Given the description of an element on the screen output the (x, y) to click on. 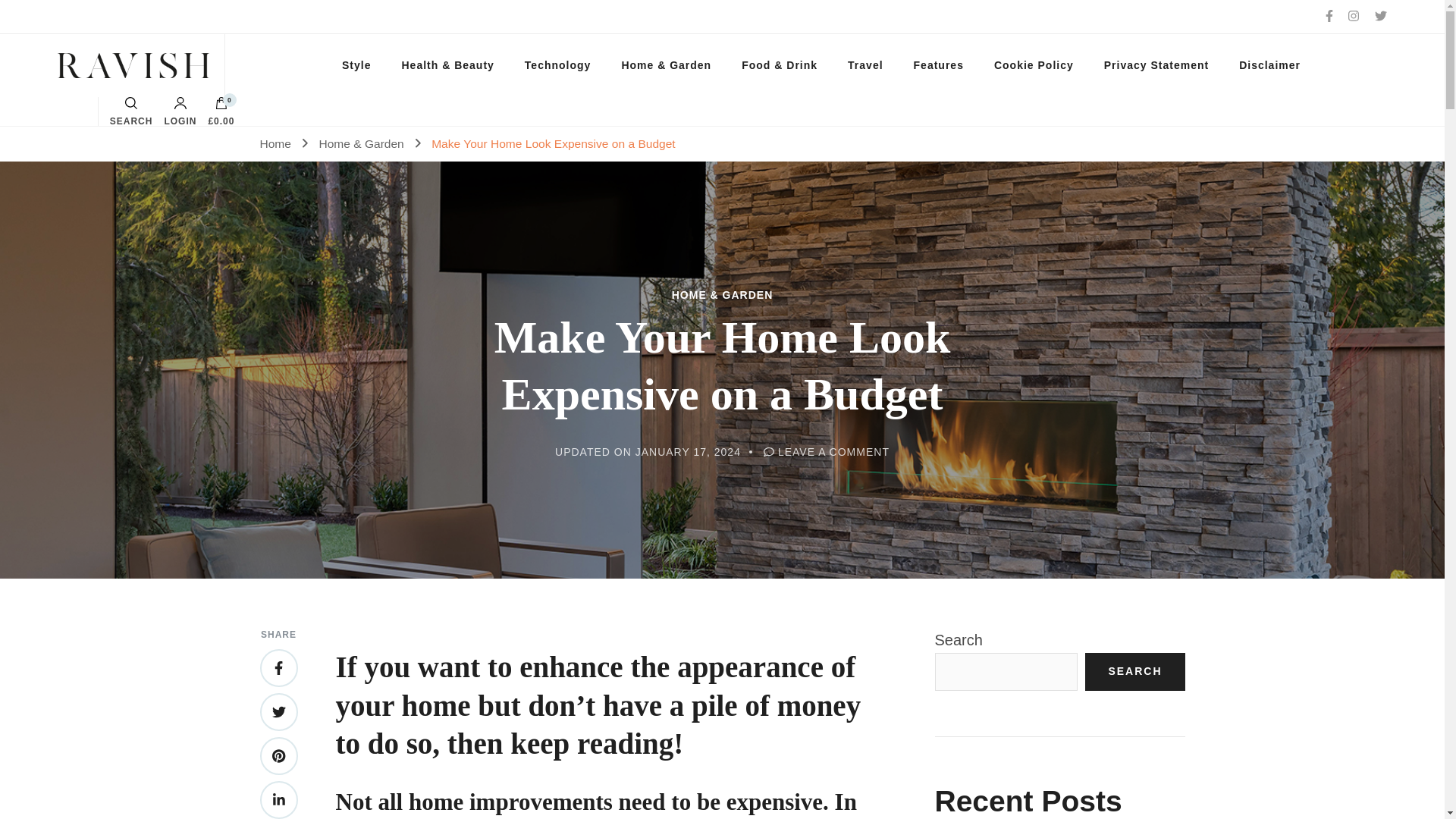
Style (355, 65)
LOGIN (179, 111)
Technology (558, 65)
Privacy Statement (1156, 65)
Features (938, 65)
Disclaimer (1270, 65)
Ravish Magazine (113, 64)
SEARCH (131, 111)
Travel (865, 65)
Search (915, 417)
